Given the description of an element on the screen output the (x, y) to click on. 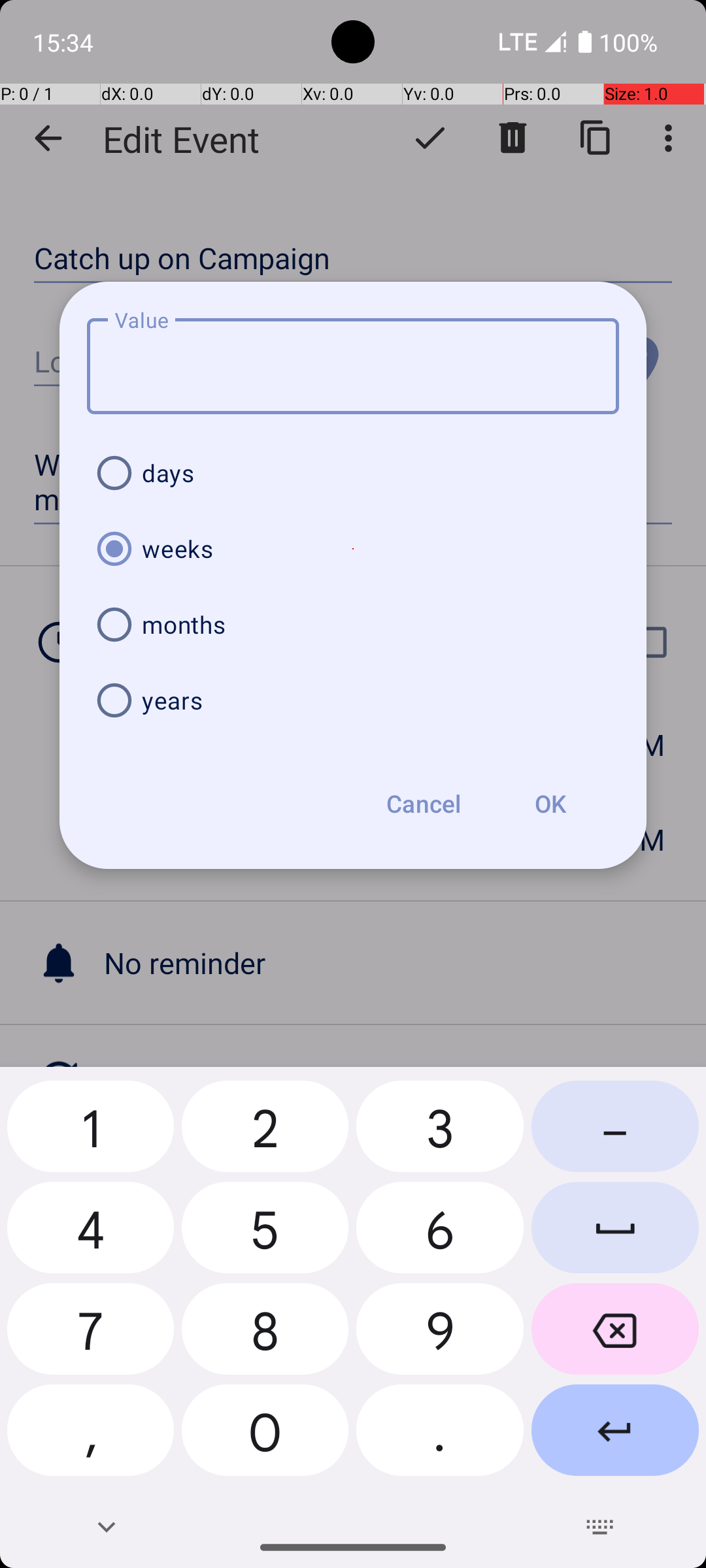
Value Element type: android.widget.EditText (352, 366)
days Element type: android.widget.RadioButton (352, 472)
weeks Element type: android.widget.RadioButton (352, 548)
months Element type: android.widget.RadioButton (352, 624)
years Element type: android.widget.RadioButton (352, 700)
